Given the description of an element on the screen output the (x, y) to click on. 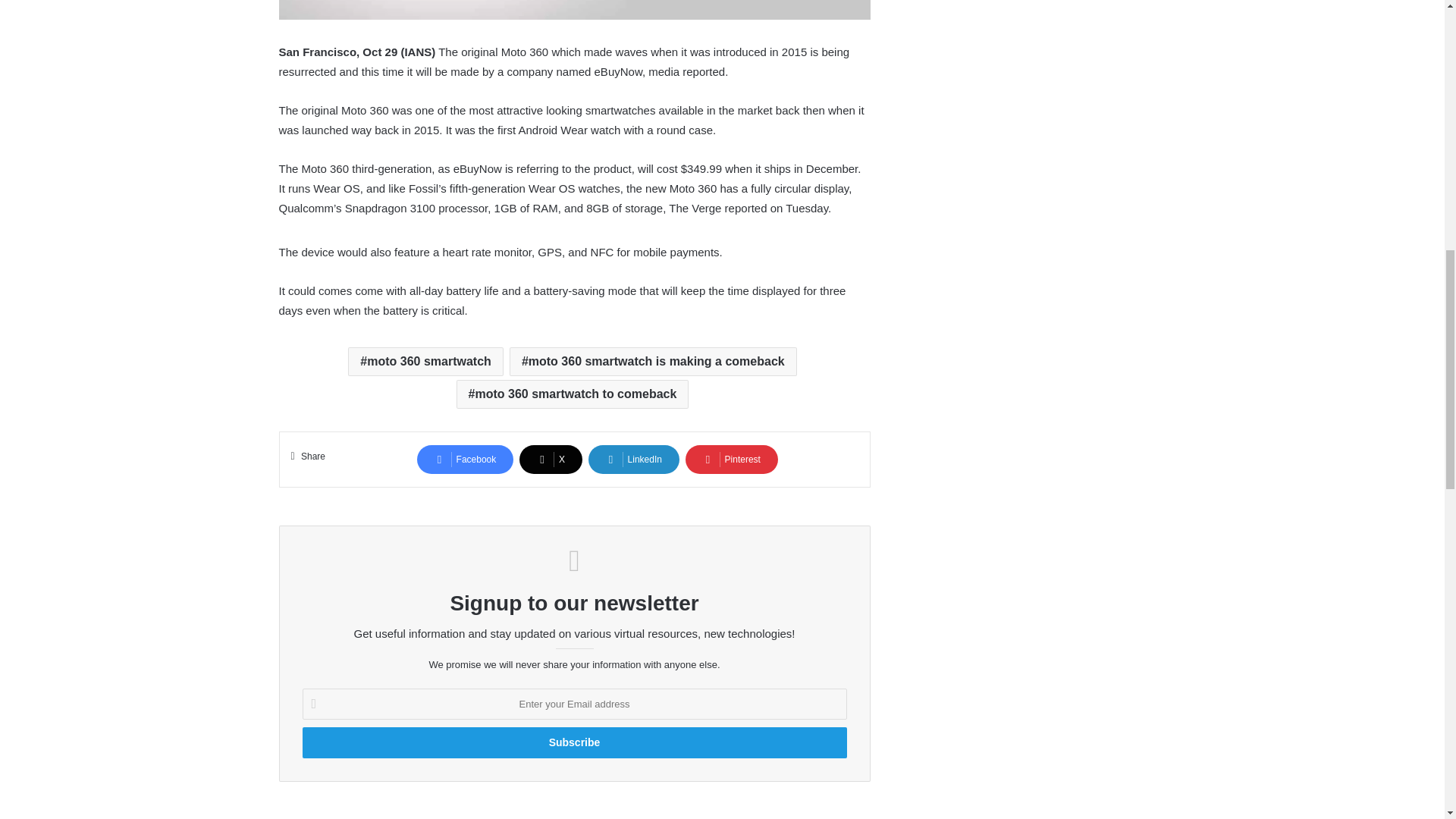
Pinterest (731, 459)
X (550, 459)
moto 360 smartwatch is making a comeback (652, 361)
LinkedIn (633, 459)
Pinterest (731, 459)
moto 360 smartwatch (425, 361)
Facebook (464, 459)
Subscribe (573, 742)
moto 360 smartwatch to comeback (572, 394)
LinkedIn (633, 459)
X (550, 459)
Facebook (464, 459)
